Given the description of an element on the screen output the (x, y) to click on. 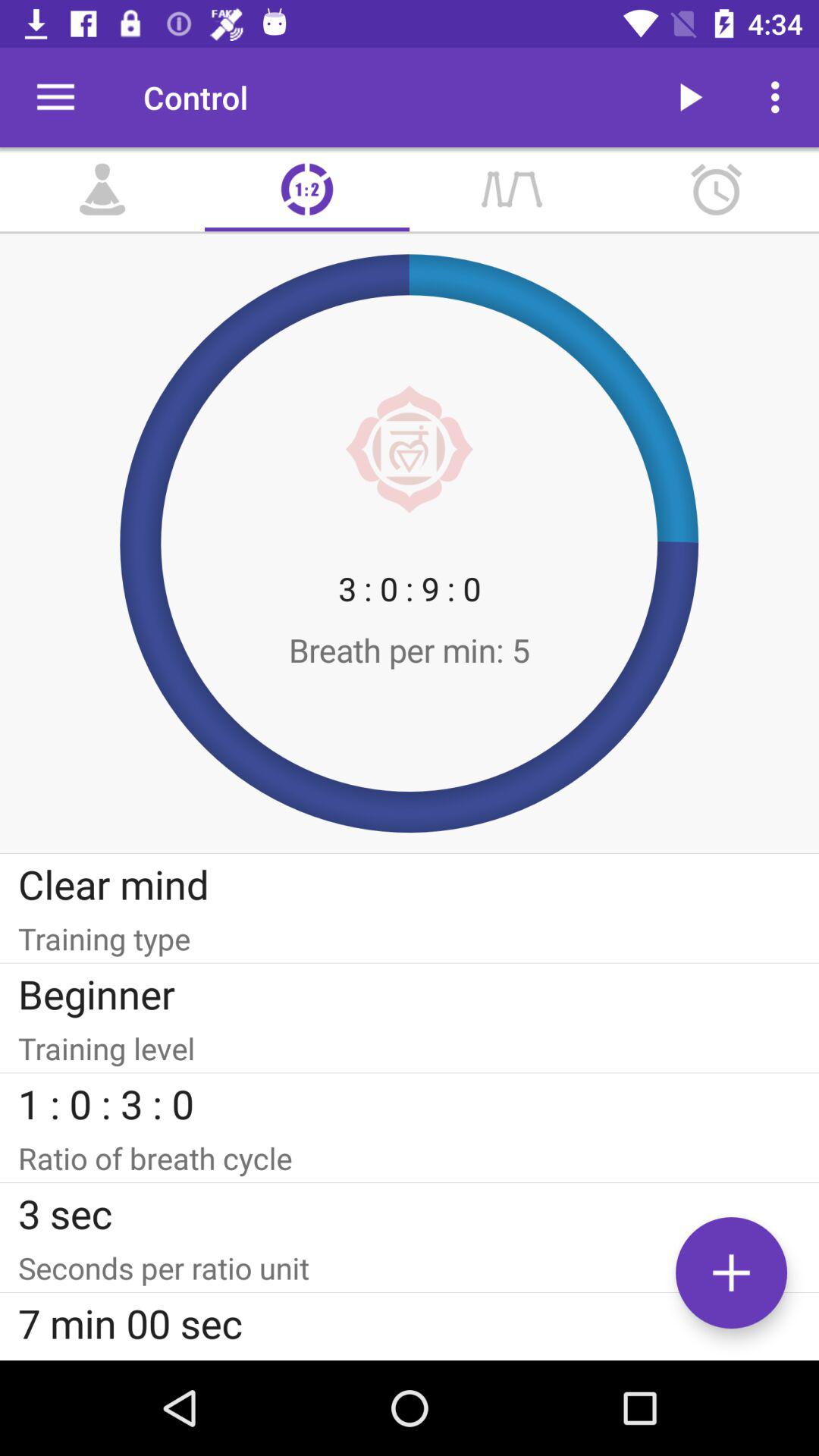
select item below the 3 sec (409, 1267)
